Given the description of an element on the screen output the (x, y) to click on. 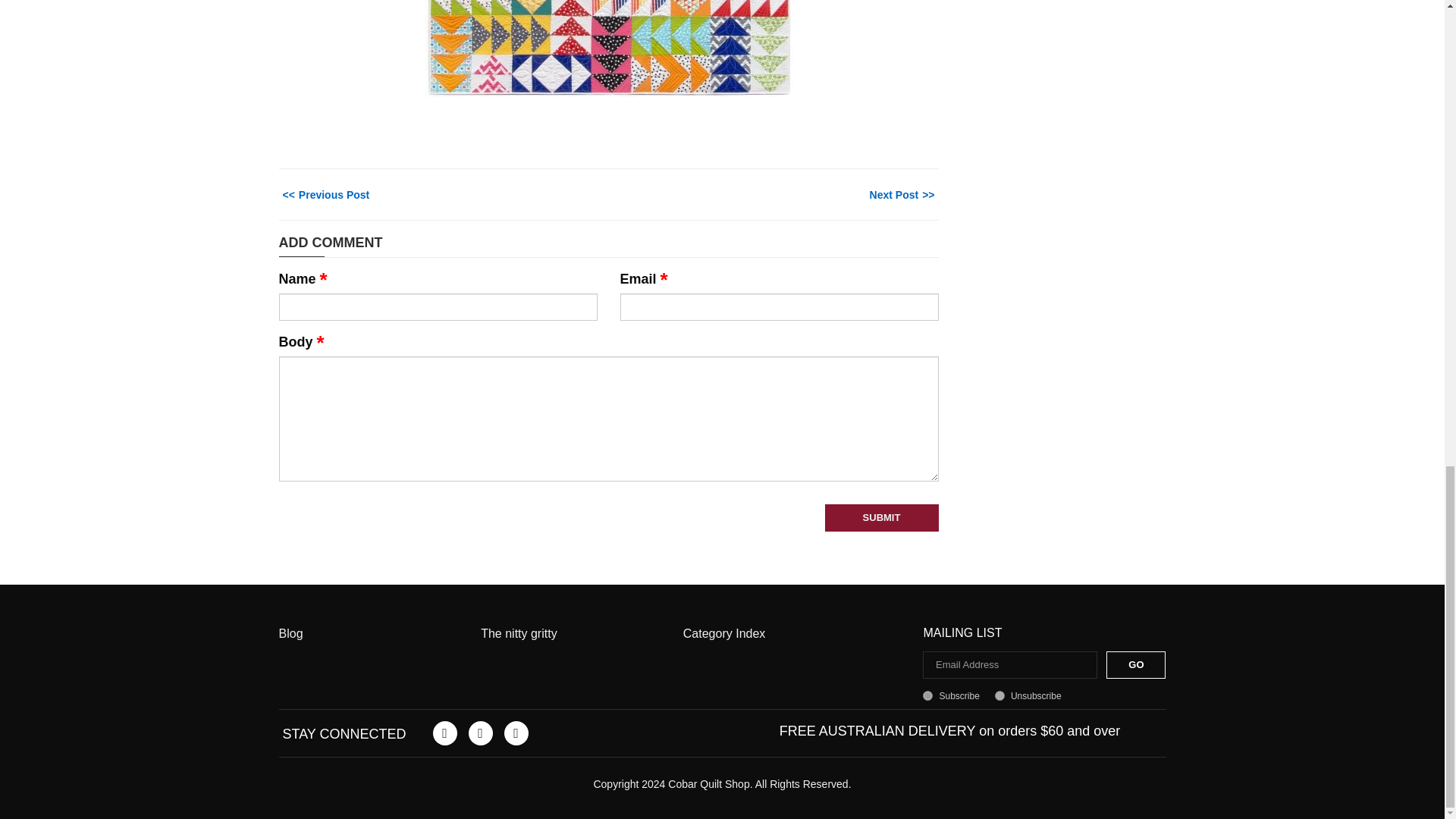
1 (928, 696)
Follow Us on Instagram (480, 733)
Submit (882, 517)
Like Us on Facebook (444, 733)
Subscribe to our Blog (515, 733)
0 (999, 696)
